Given the description of an element on the screen output the (x, y) to click on. 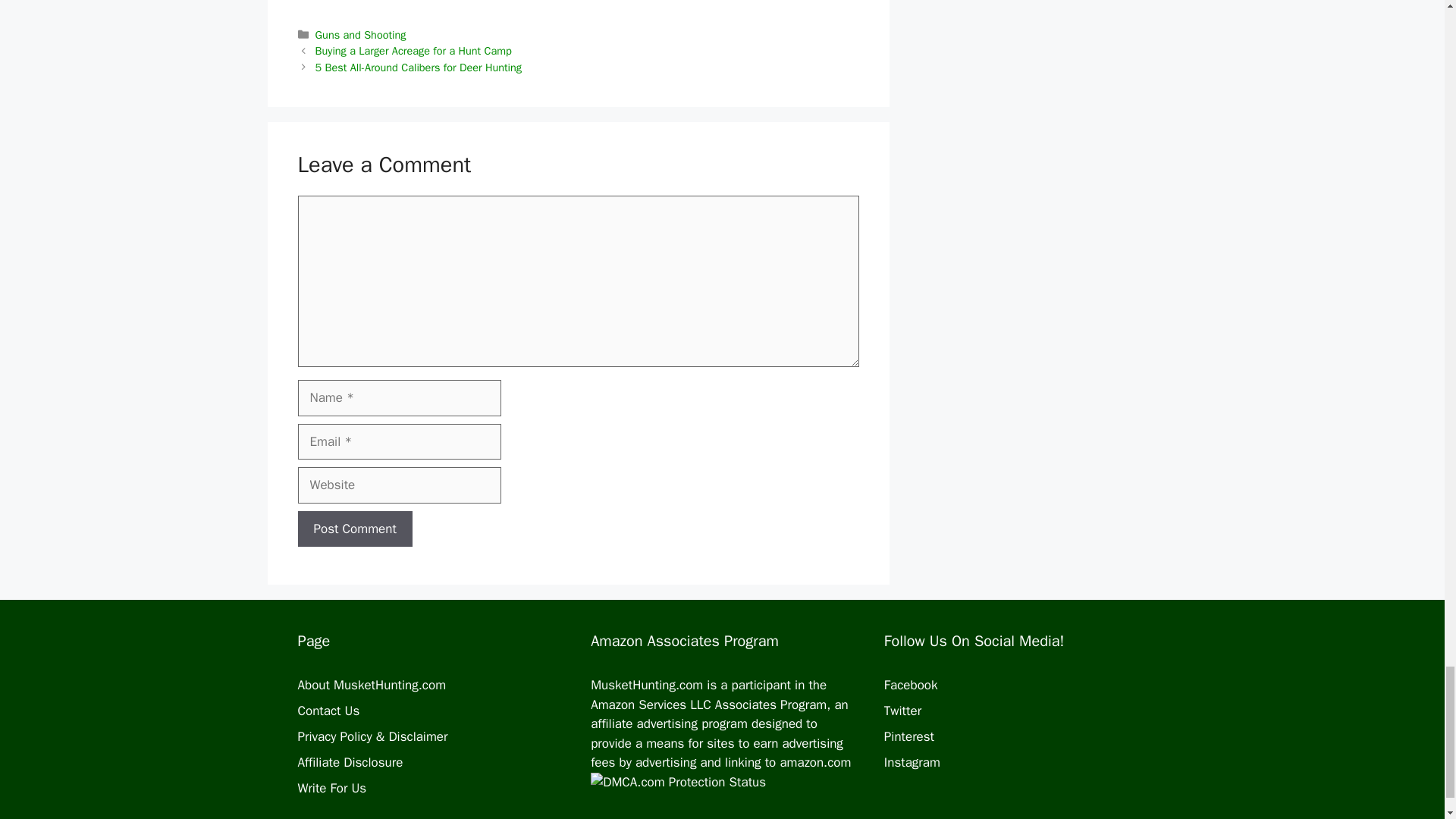
DMCA.com Protection Status (720, 791)
Buying a Larger Acreage for a Hunt Camp (413, 50)
5 Best All-Around Calibers for Deer Hunting (418, 67)
Post Comment (354, 529)
Guns and Shooting (360, 34)
Post Comment (354, 529)
